Given the description of an element on the screen output the (x, y) to click on. 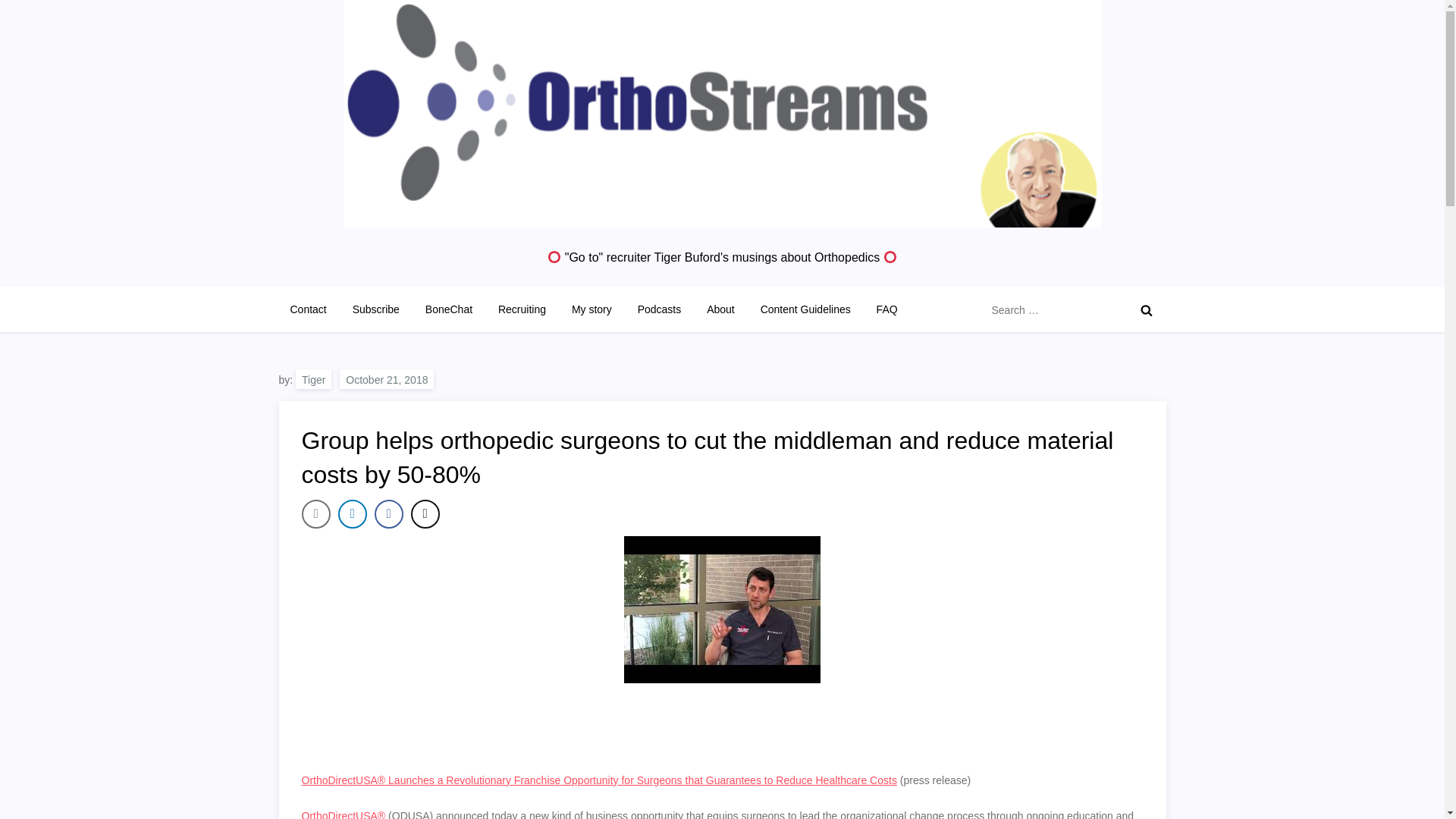
Contact (308, 309)
My story (591, 309)
Content Guidelines (805, 309)
FAQ (886, 309)
Subscribe (375, 309)
Recruiting (521, 309)
BoneChat (448, 309)
October 21, 2018 (386, 379)
About (720, 309)
Podcasts (659, 309)
Tiger (313, 379)
